Given the description of an element on the screen output the (x, y) to click on. 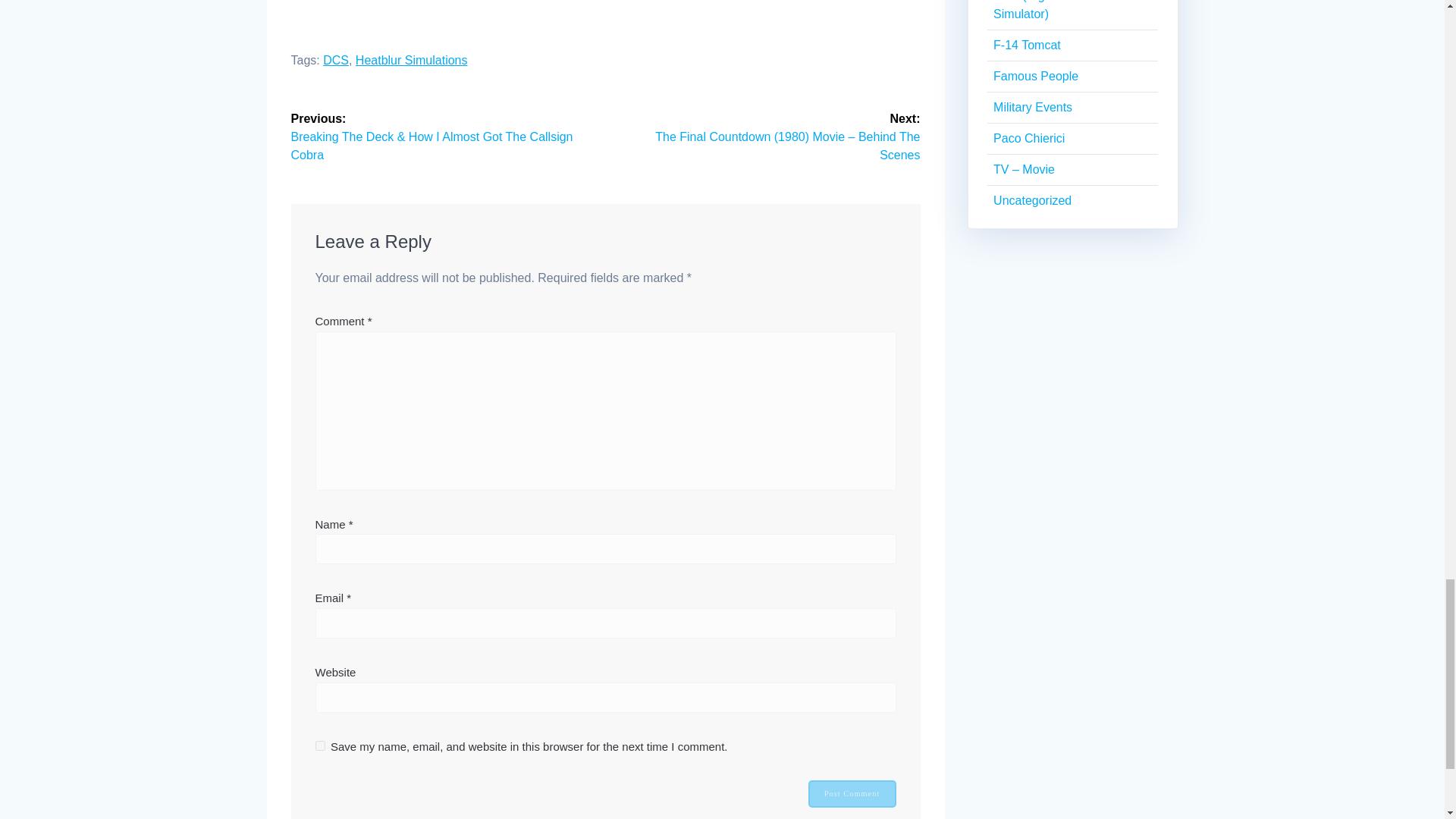
DCS (336, 60)
yes (319, 746)
Heatblur Simulations (411, 60)
Post Comment (852, 793)
Post Comment (852, 793)
